Given the description of an element on the screen output the (x, y) to click on. 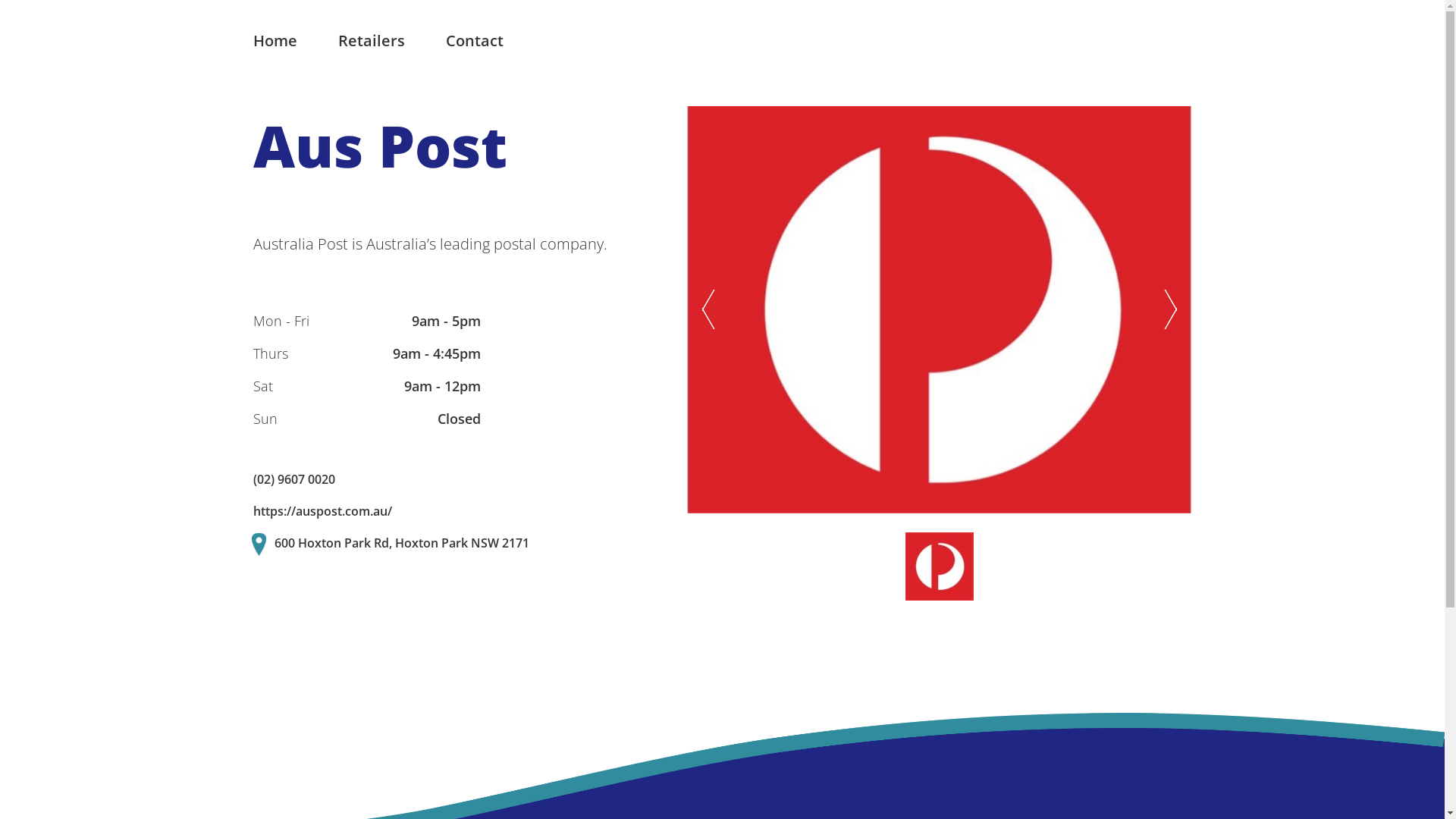
Previous Element type: text (708, 309)
Contact Element type: text (474, 41)
Retailers Element type: text (371, 41)
(02) 9607 0020 Element type: text (294, 478)
600 Hoxton Park Rd, Hoxton Park NSW 2171 Element type: text (401, 542)
https://auspost.com.au/ Element type: text (322, 510)
Next Element type: text (1169, 309)
Home Element type: text (275, 41)
